Given the description of an element on the screen output the (x, y) to click on. 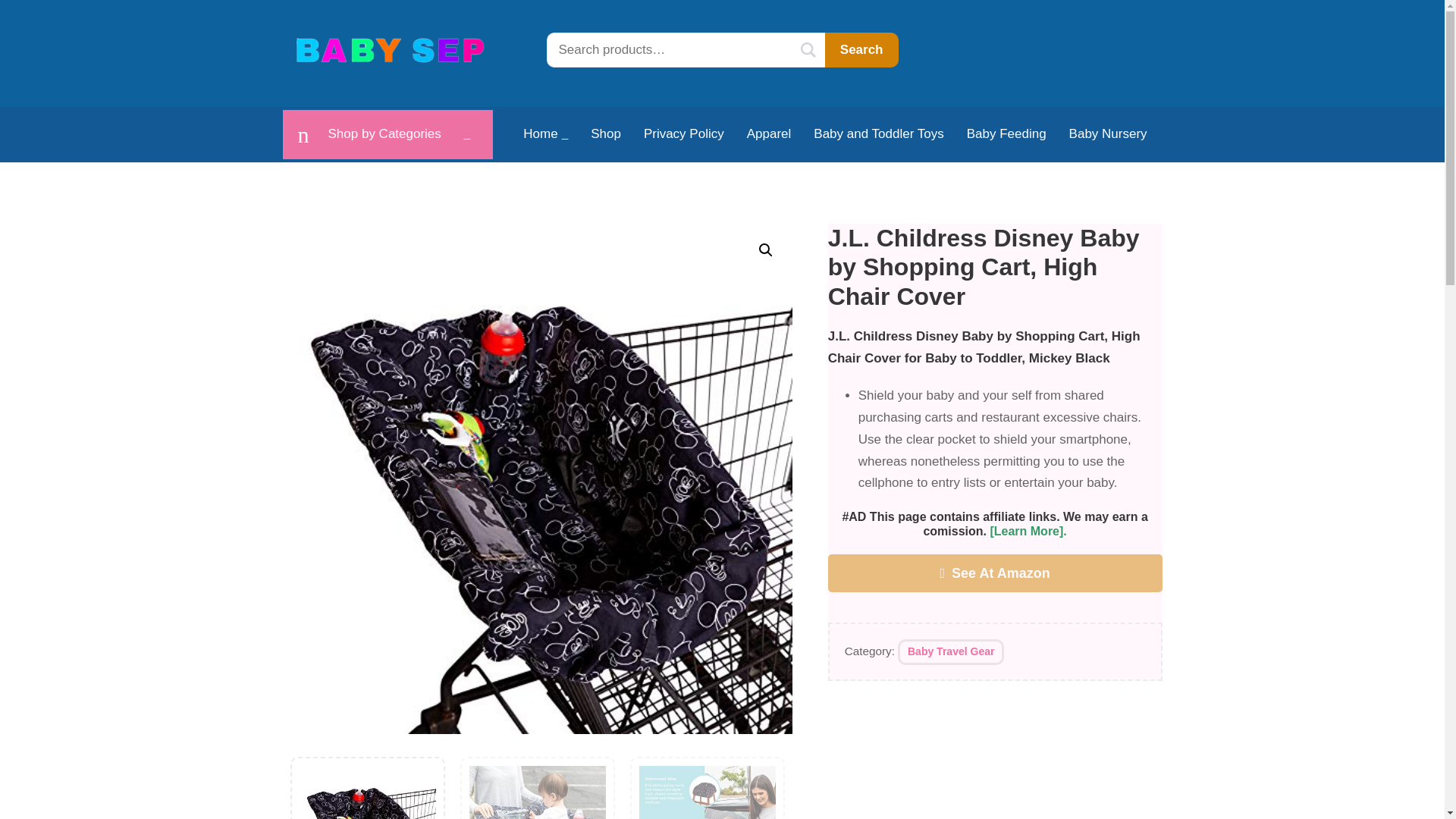
BabySep.com (390, 49)
Search (861, 49)
Shop by Categories (387, 133)
